Given the description of an element on the screen output the (x, y) to click on. 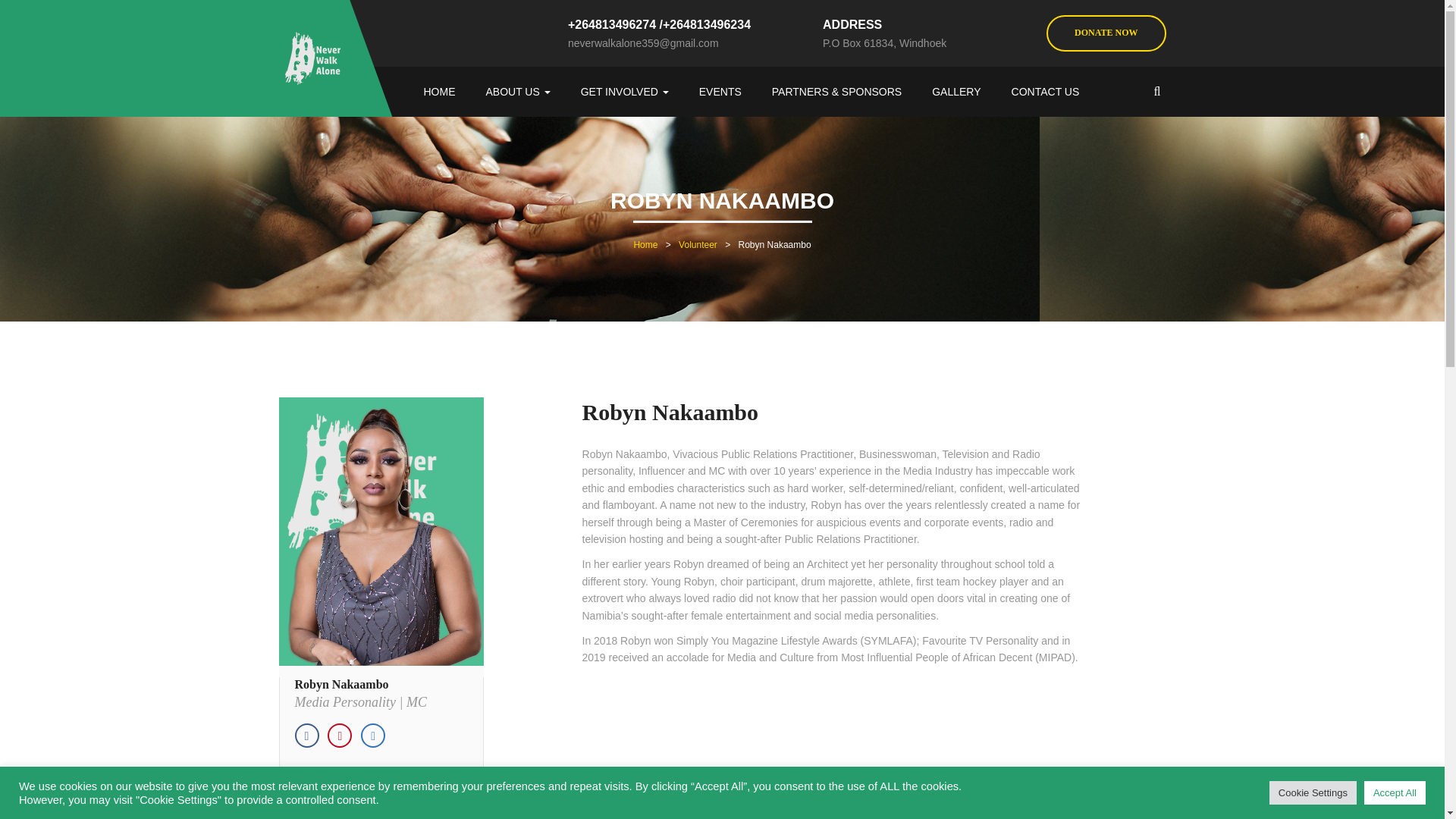
EVENTS (720, 91)
GALLERY (956, 91)
Home (645, 244)
Volunteer (697, 244)
Facebook (306, 735)
HOME (438, 91)
Google Plus (339, 735)
CONTACT US (1044, 91)
GET INVOLVED (625, 91)
LinkedIn (373, 735)
